Given the description of an element on the screen output the (x, y) to click on. 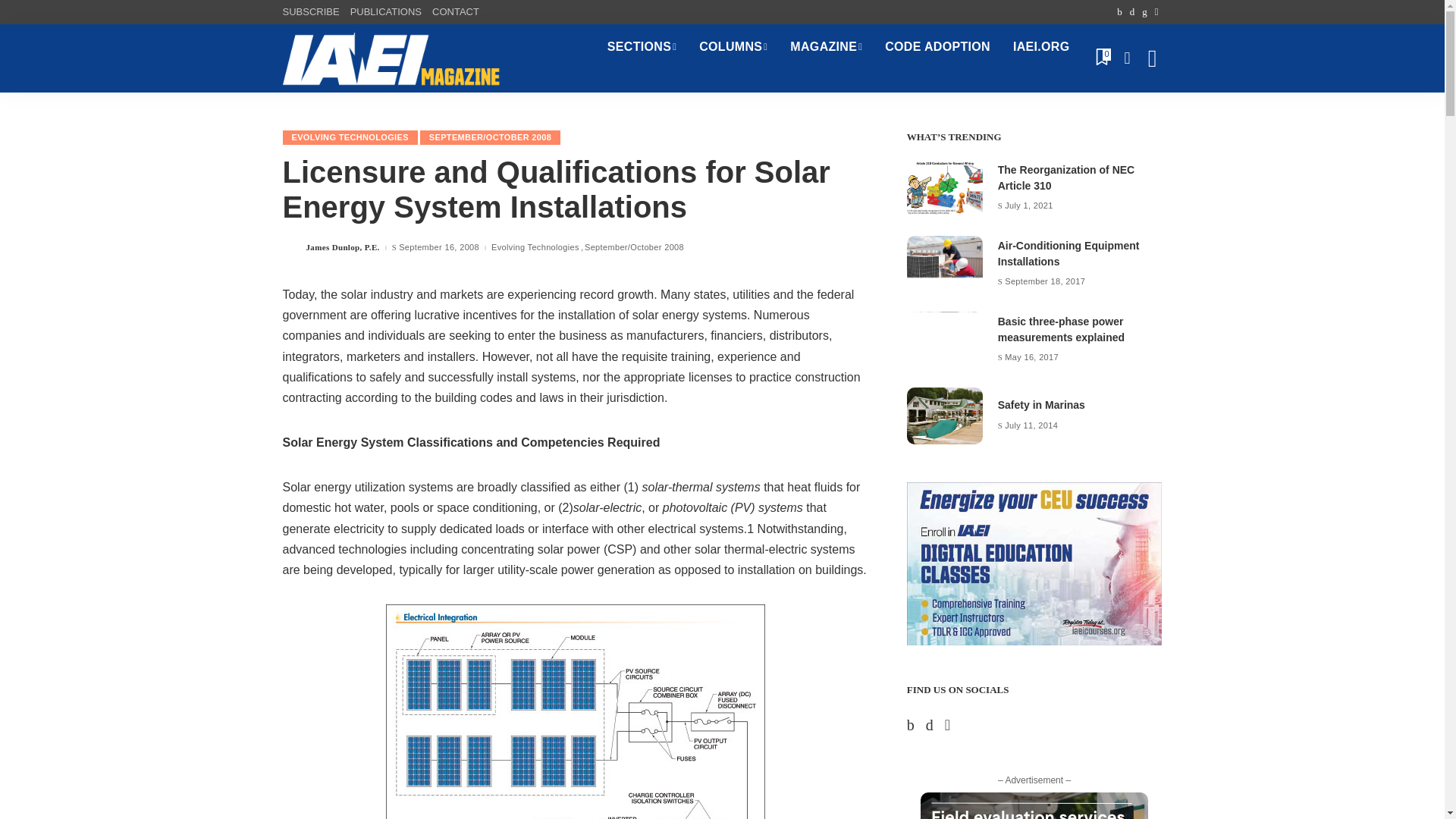
CONTACT (455, 11)
PUBLICATIONS (385, 11)
SUBSCRIBE (312, 11)
IAEI Magazine (391, 58)
2008-09-16T21:58:45-05:00 (438, 247)
